Given the description of an element on the screen output the (x, y) to click on. 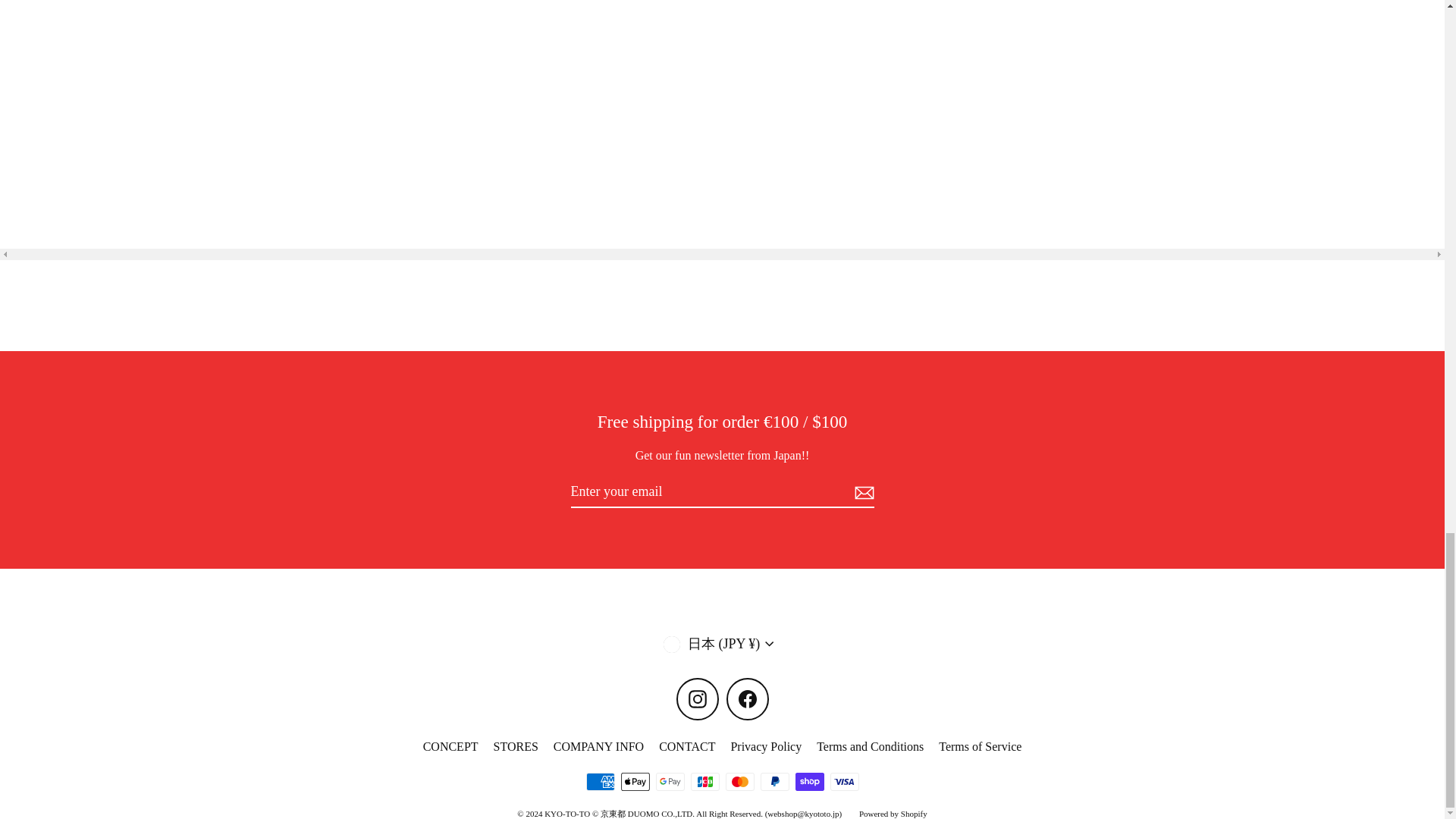
KYO-TO-TO on Facebook (747, 699)
Google Pay (669, 782)
PayPal (774, 782)
JCB (704, 782)
Apple Pay (634, 782)
Mastercard (739, 782)
American Express (599, 782)
Shop Pay (809, 782)
KYO-TO-TO on Instagram (698, 699)
Subscribe (860, 492)
